Given the description of an element on the screen output the (x, y) to click on. 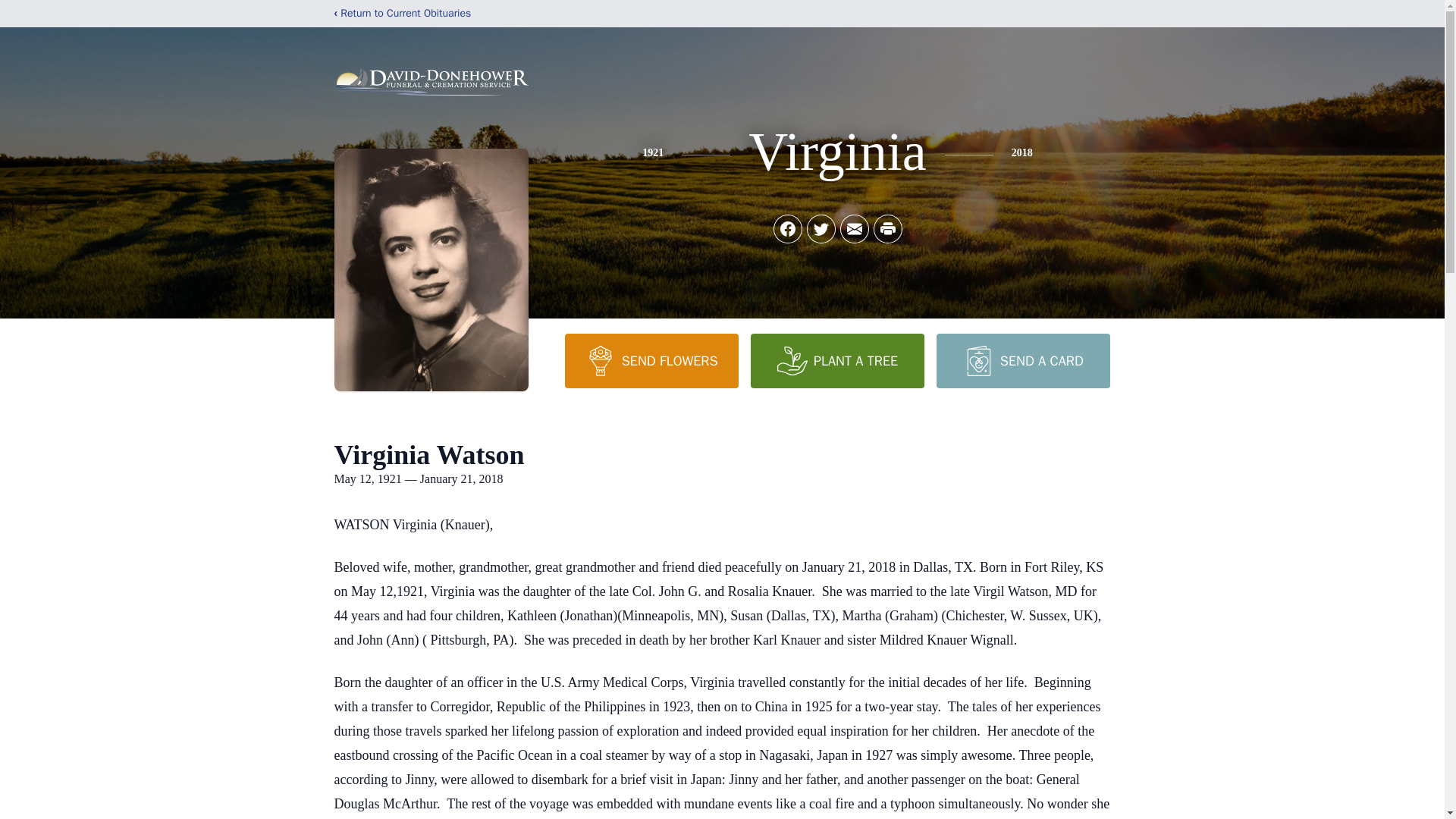
SEND FLOWERS (651, 360)
PLANT A TREE (837, 360)
SEND A CARD (1022, 360)
